Given the description of an element on the screen output the (x, y) to click on. 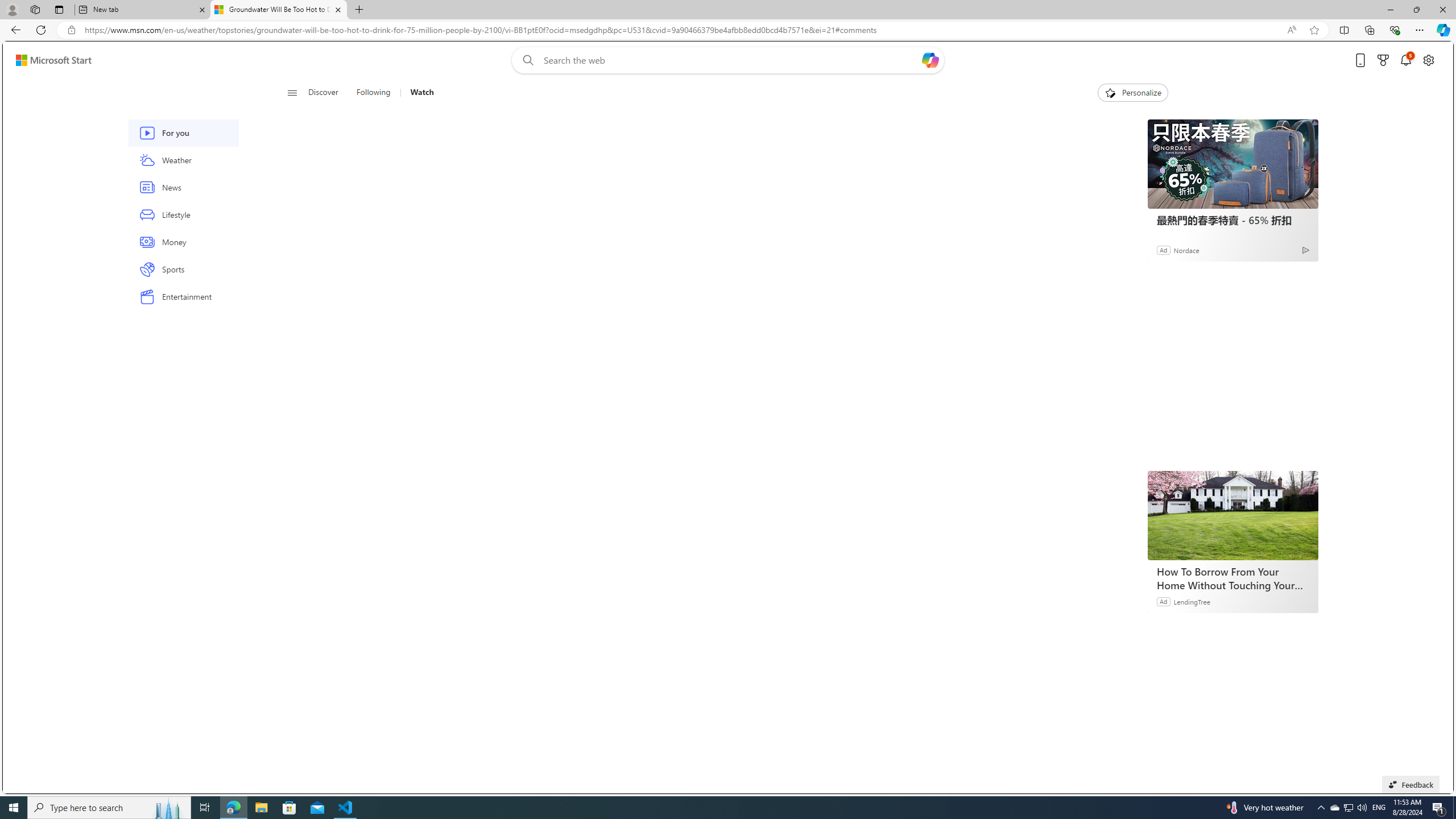
LendingTree (1192, 601)
Skip to content (49, 59)
To get missing image descriptions, open the context menu. (1109, 92)
How To Borrow From Your Home Without Touching Your Mortgage (1232, 578)
